Given the description of an element on the screen output the (x, y) to click on. 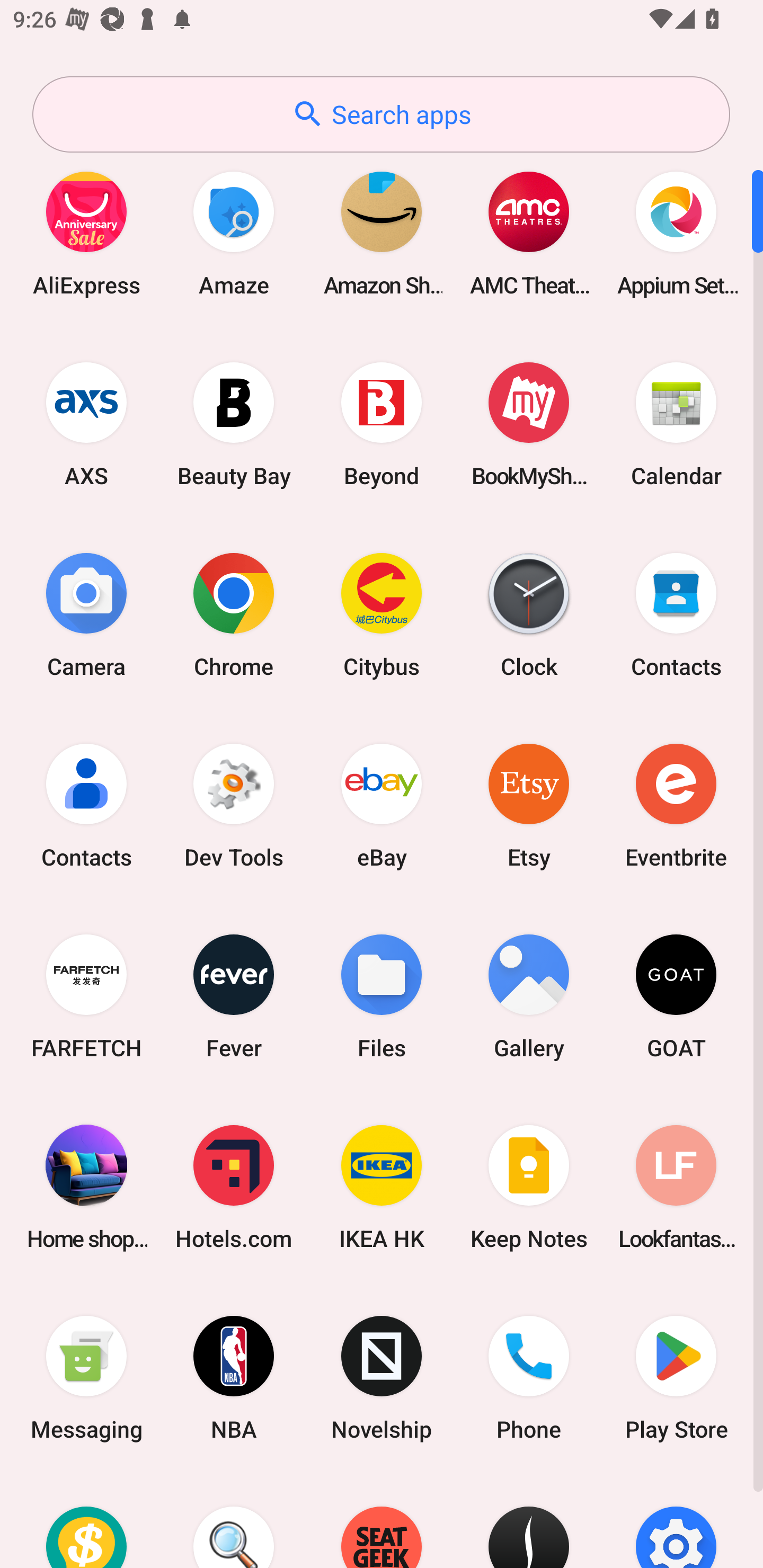
  Search apps (381, 114)
AliExpress (86, 233)
Amaze (233, 233)
Amazon Shopping (381, 233)
AMC Theatres (528, 233)
Appium Settings (676, 233)
AXS (86, 424)
Beauty Bay (233, 424)
Beyond (381, 424)
BookMyShow (528, 424)
Calendar (676, 424)
Camera (86, 614)
Chrome (233, 614)
Citybus (381, 614)
Clock (528, 614)
Contacts (676, 614)
Contacts (86, 805)
Dev Tools (233, 805)
eBay (381, 805)
Etsy (528, 805)
Eventbrite (676, 805)
FARFETCH (86, 996)
Fever (233, 996)
Files (381, 996)
Gallery (528, 996)
GOAT (676, 996)
Home shopping (86, 1186)
Hotels.com (233, 1186)
IKEA HK (381, 1186)
Keep Notes (528, 1186)
Lookfantastic (676, 1186)
Messaging (86, 1377)
NBA (233, 1377)
Novelship (381, 1377)
Phone (528, 1377)
Play Store (676, 1377)
